Given the description of an element on the screen output the (x, y) to click on. 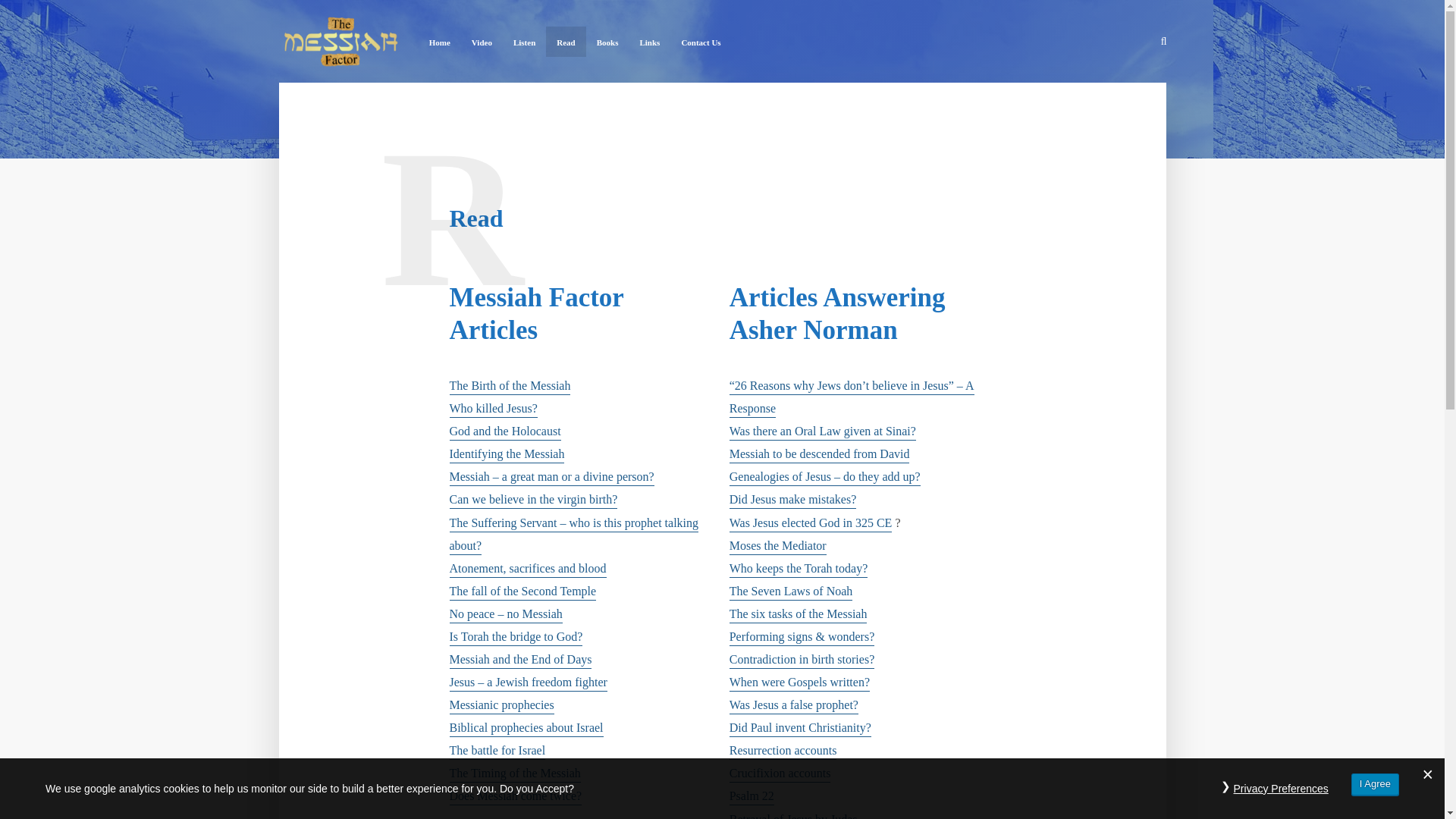
Identifying the Messiah (506, 455)
Home (440, 41)
Messiah and the End of Days (519, 660)
Is Torah the bridge to God? (515, 637)
The fall of the Second Temple (521, 592)
Does Messiah come twice? (514, 797)
Contradiction in birth stories? (802, 660)
The Birth of the Messiah (509, 386)
Biblical prophecies about Israel (525, 729)
Listen (524, 41)
God and the Holocaust (504, 432)
Moses the Mediator (778, 546)
Messianic prophecies (500, 706)
The Seven Laws of Noah (791, 592)
The battle for Israel (496, 751)
